Given the description of an element on the screen output the (x, y) to click on. 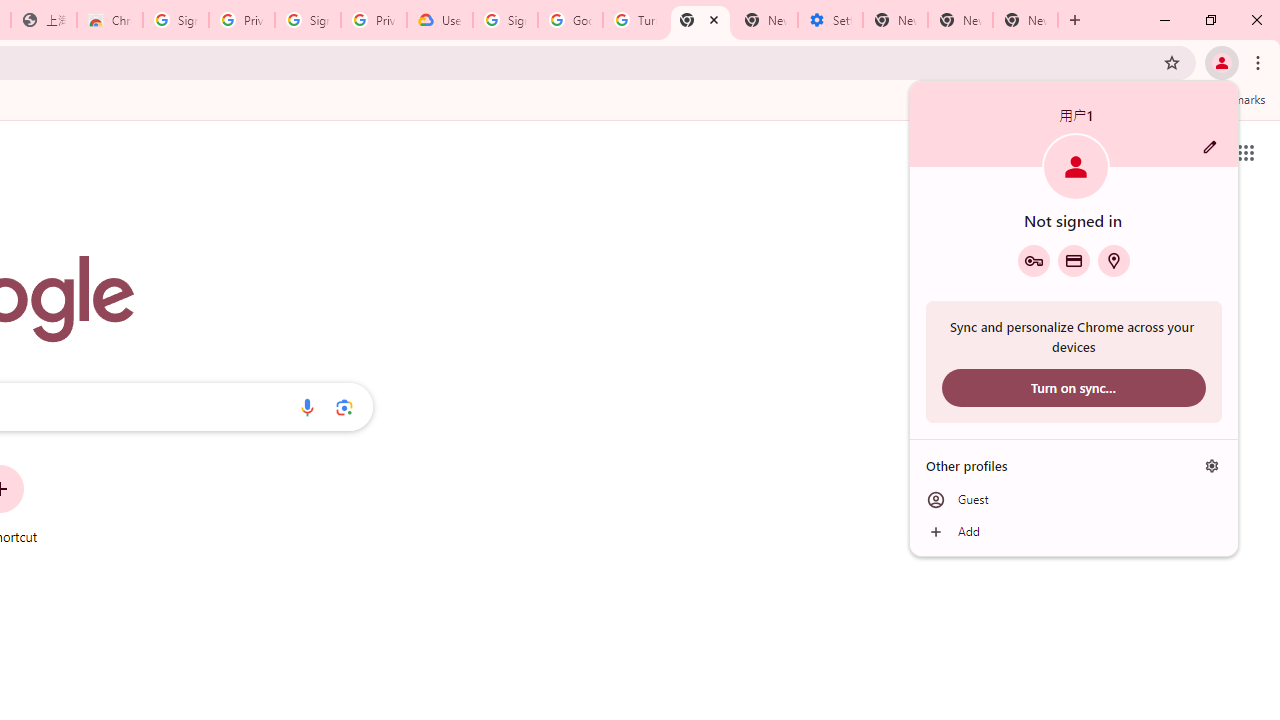
Payment methods (1074, 260)
Customize profile (1210, 147)
Addresses and more (1114, 260)
Google Password Manager (1033, 260)
Guest (1073, 499)
Add (1073, 531)
